Given the description of an element on the screen output the (x, y) to click on. 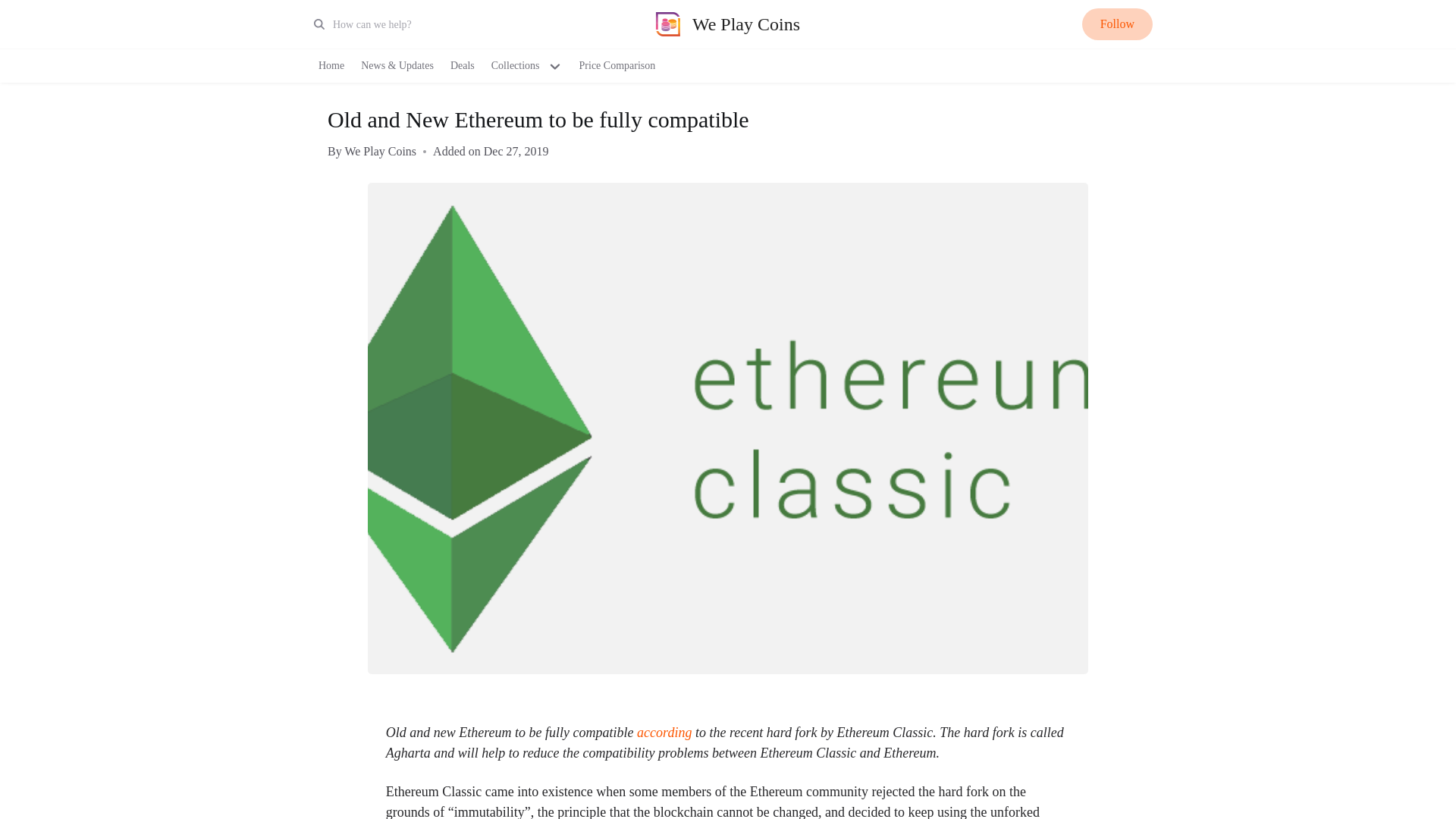
Home (330, 65)
We Play Coins (727, 24)
Deals (461, 65)
Price Comparison (617, 65)
Follow (1117, 24)
according (666, 732)
